Given the description of an element on the screen output the (x, y) to click on. 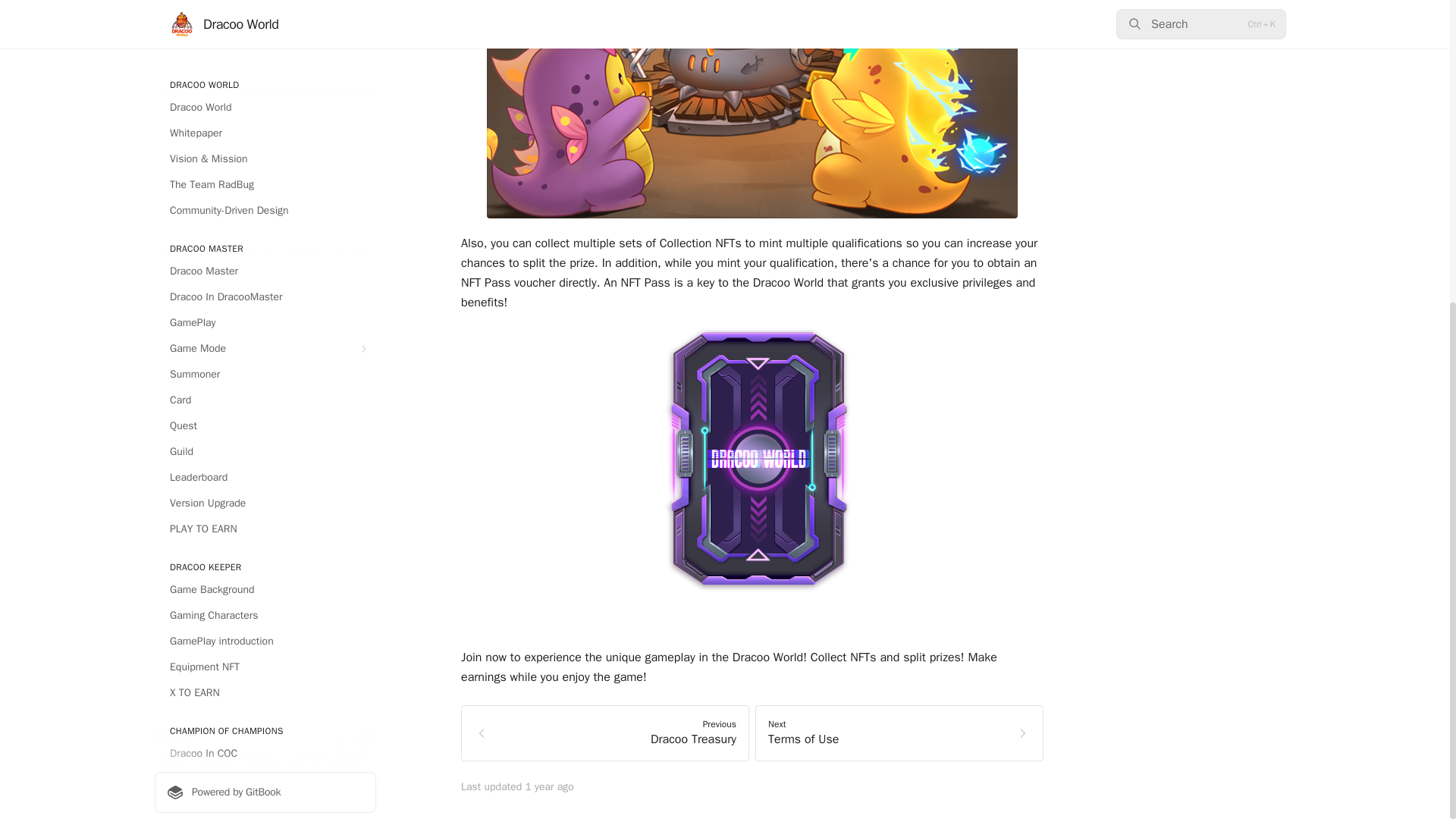
Equipment NFT (264, 186)
Leaderboard (264, 4)
GamePlay (264, 298)
Game Background (264, 109)
Privacy Policy (264, 626)
Customize Your Game (264, 324)
Blind Box (264, 436)
Double Token Model (264, 487)
PLAY TO EARN (264, 48)
Low Threshold (264, 385)
Collection Prize Pool (264, 539)
Terms of Use (264, 600)
GamePlay introduction (264, 160)
Dracoo In COC (264, 273)
X TO EARN (264, 211)
